Given the description of an element on the screen output the (x, y) to click on. 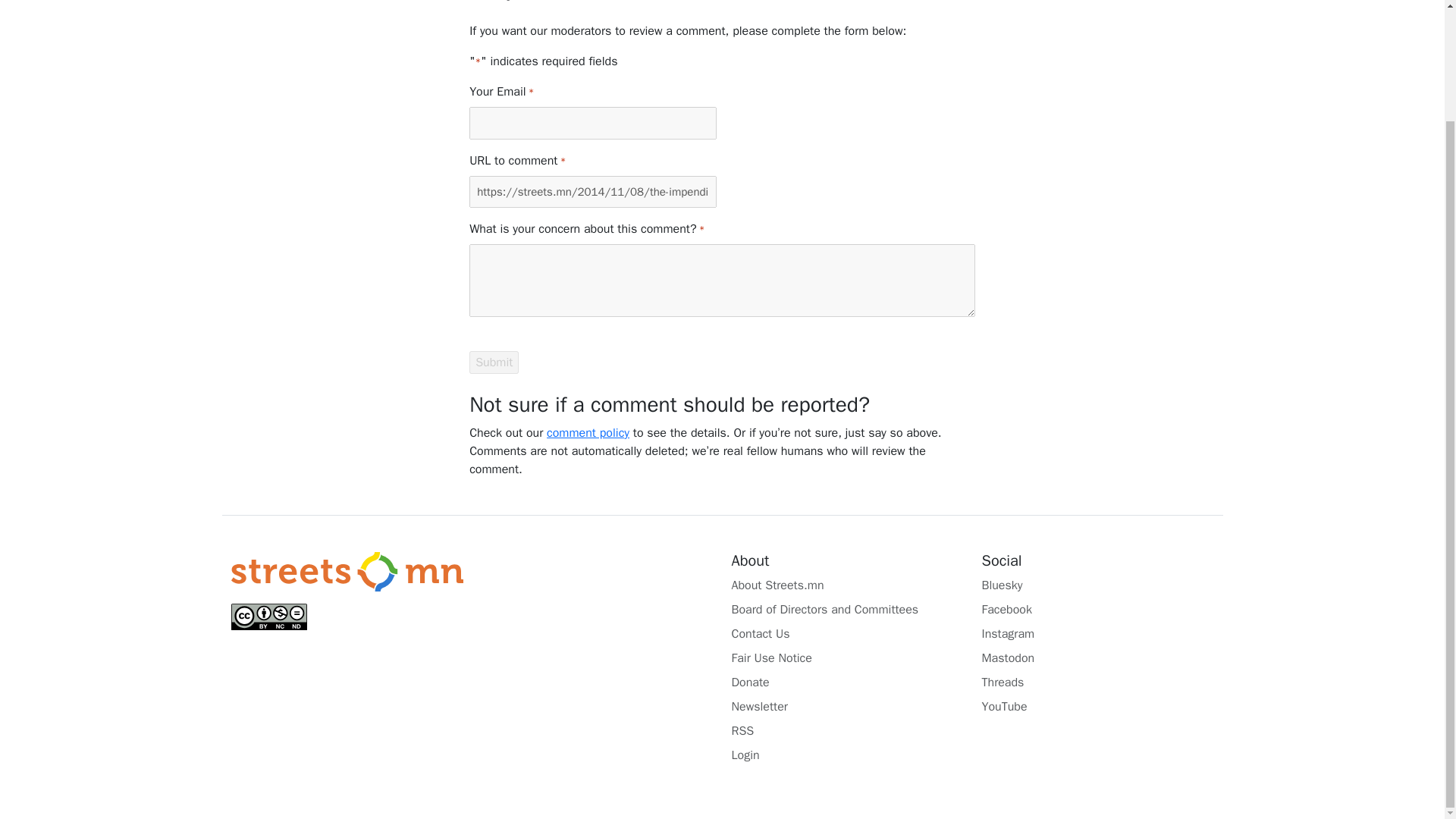
Submit (493, 362)
YouTube (1096, 706)
RSS (846, 730)
Board of Directors and Committees (846, 609)
comment policy (587, 432)
Donate (846, 682)
Fair Use Notice (846, 658)
Threads (1096, 682)
Contact Us (846, 633)
Instagram (1096, 633)
About Streets.mn (846, 585)
Submit (493, 362)
Mastodon (1096, 658)
Facebook (1096, 609)
Bluesky (1096, 585)
